Given the description of an element on the screen output the (x, y) to click on. 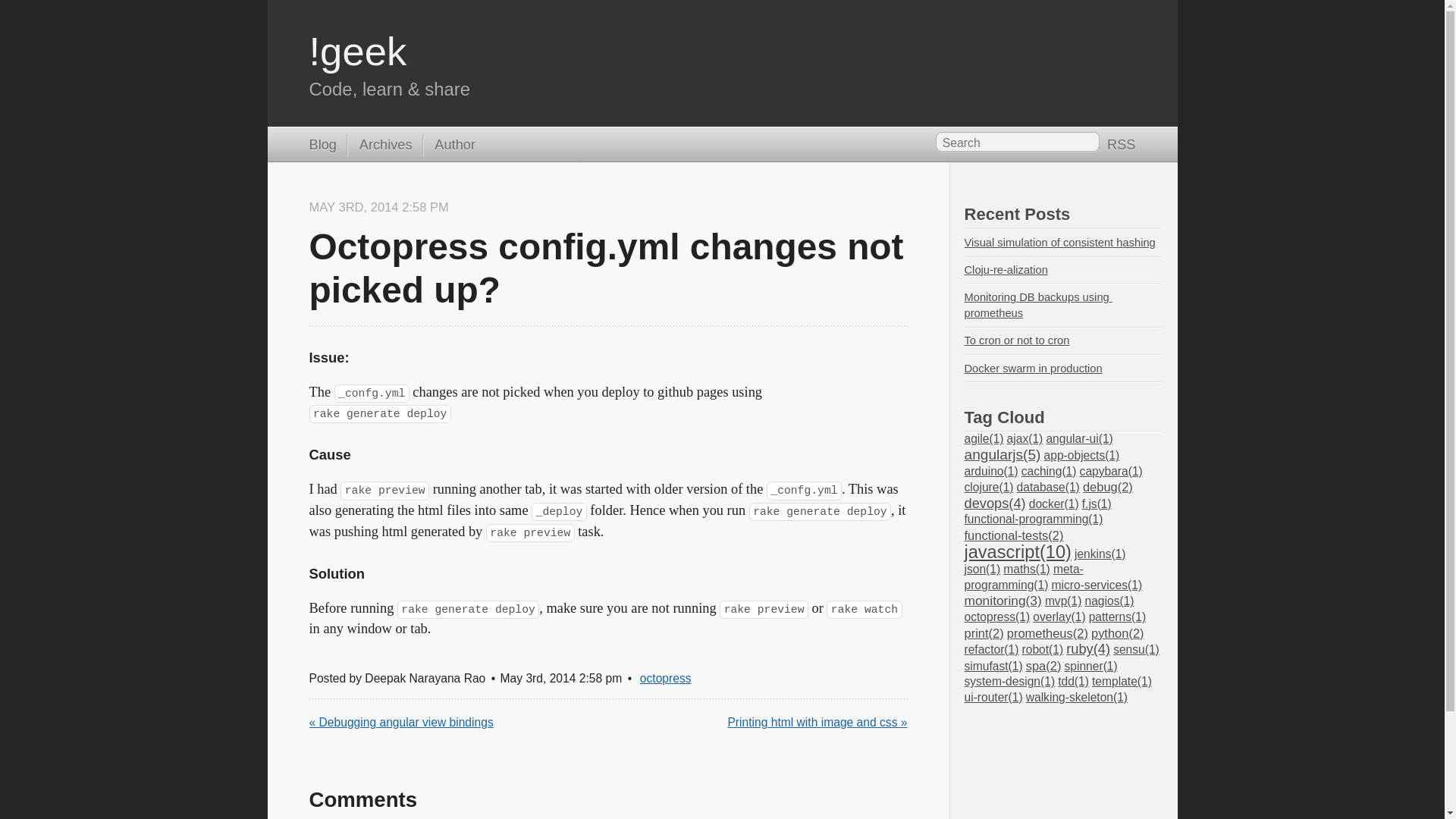
Author (449, 146)
Blog (322, 146)
octopress (665, 677)
Archives (379, 146)
Next Post: Printing html with image and css (816, 722)
Previous Post: Debugging angular view bindings (400, 722)
!geek (357, 50)
